Given the description of an element on the screen output the (x, y) to click on. 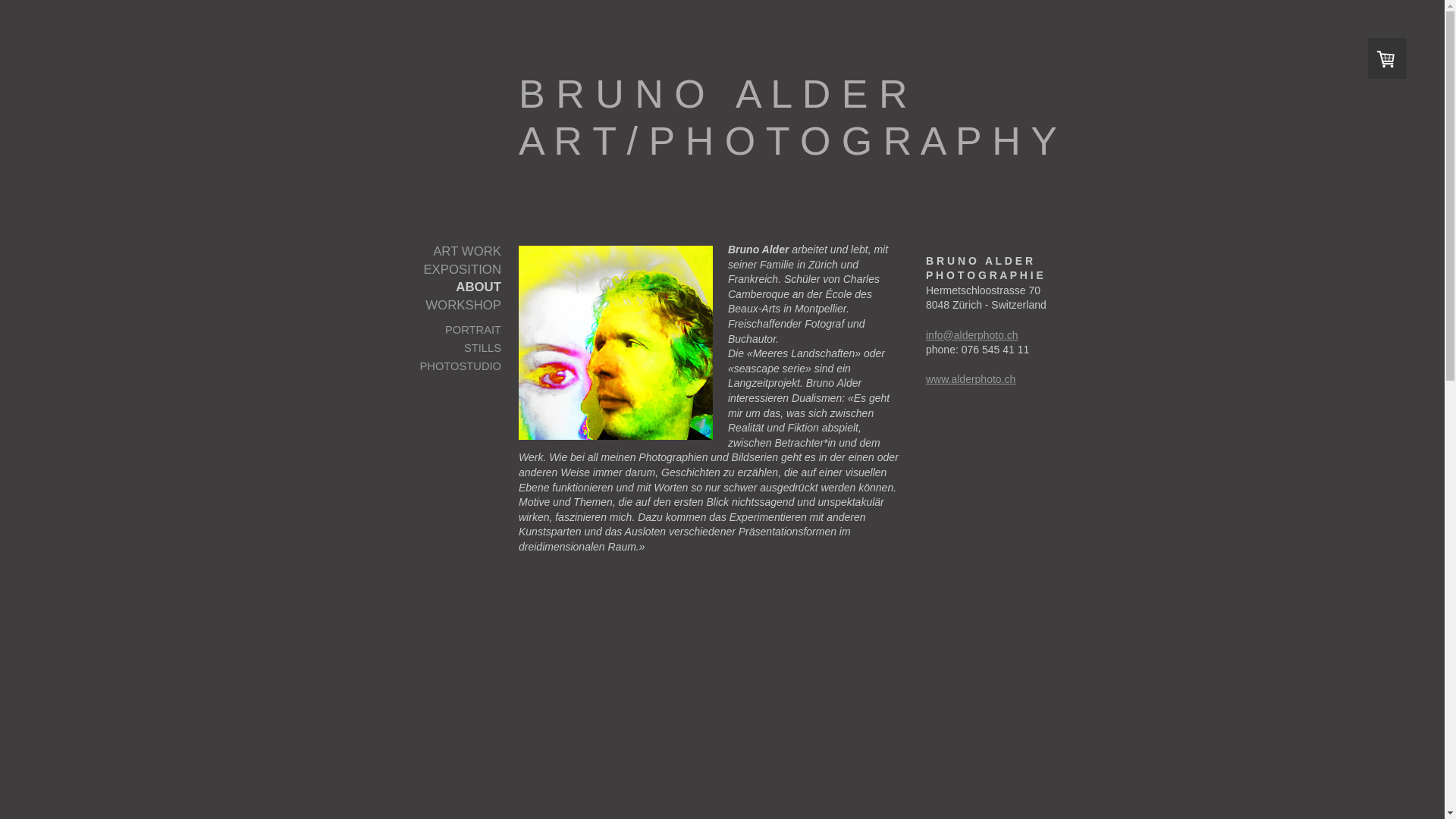
EXPOSITION Element type: text (436, 269)
ART WORK Element type: text (436, 251)
WORKSHOP Element type: text (436, 305)
PHOTOSTUDIO Element type: text (436, 366)
B R U N O   A L D E R 
A R T / P H O T O G R A P H Y Element type: text (794, 15)
info@alderphoto.ch Element type: text (971, 335)
STILLS Element type: text (436, 348)
www.alderphoto.ch Element type: text (970, 379)
PORTRAIT Element type: text (436, 330)
ABOUT Element type: text (436, 287)
